Given the description of an element on the screen output the (x, y) to click on. 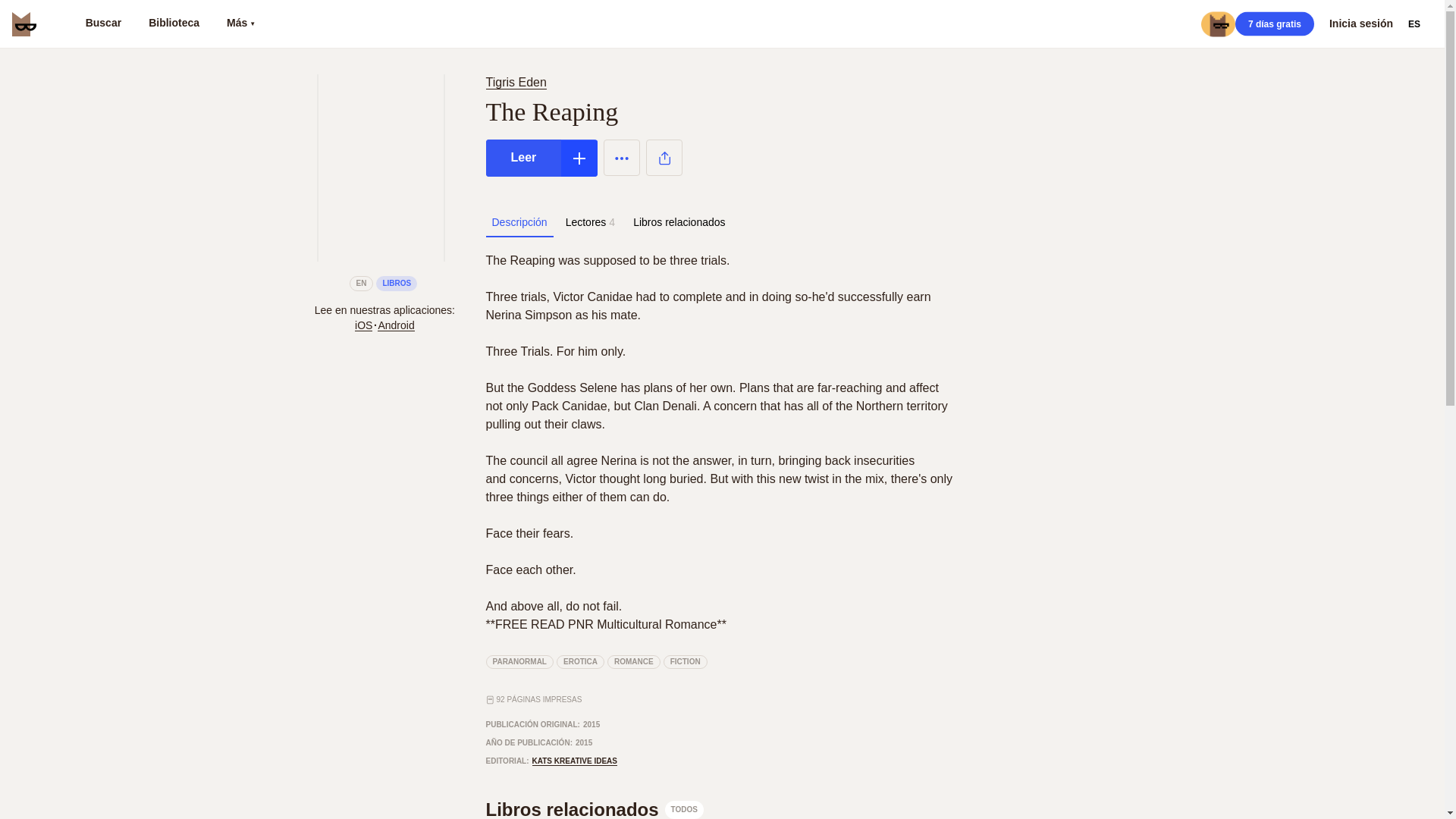
ROMANCE (634, 662)
Libros relacionados (678, 222)
EROTICA (580, 662)
PARANORMAL (518, 662)
Biblioteca (174, 24)
Tigris Eden (515, 82)
Leer (522, 157)
Tigris Eden (517, 82)
FICTION (685, 662)
KATS KREATIVE IDEAS (593, 808)
